Given the description of an element on the screen output the (x, y) to click on. 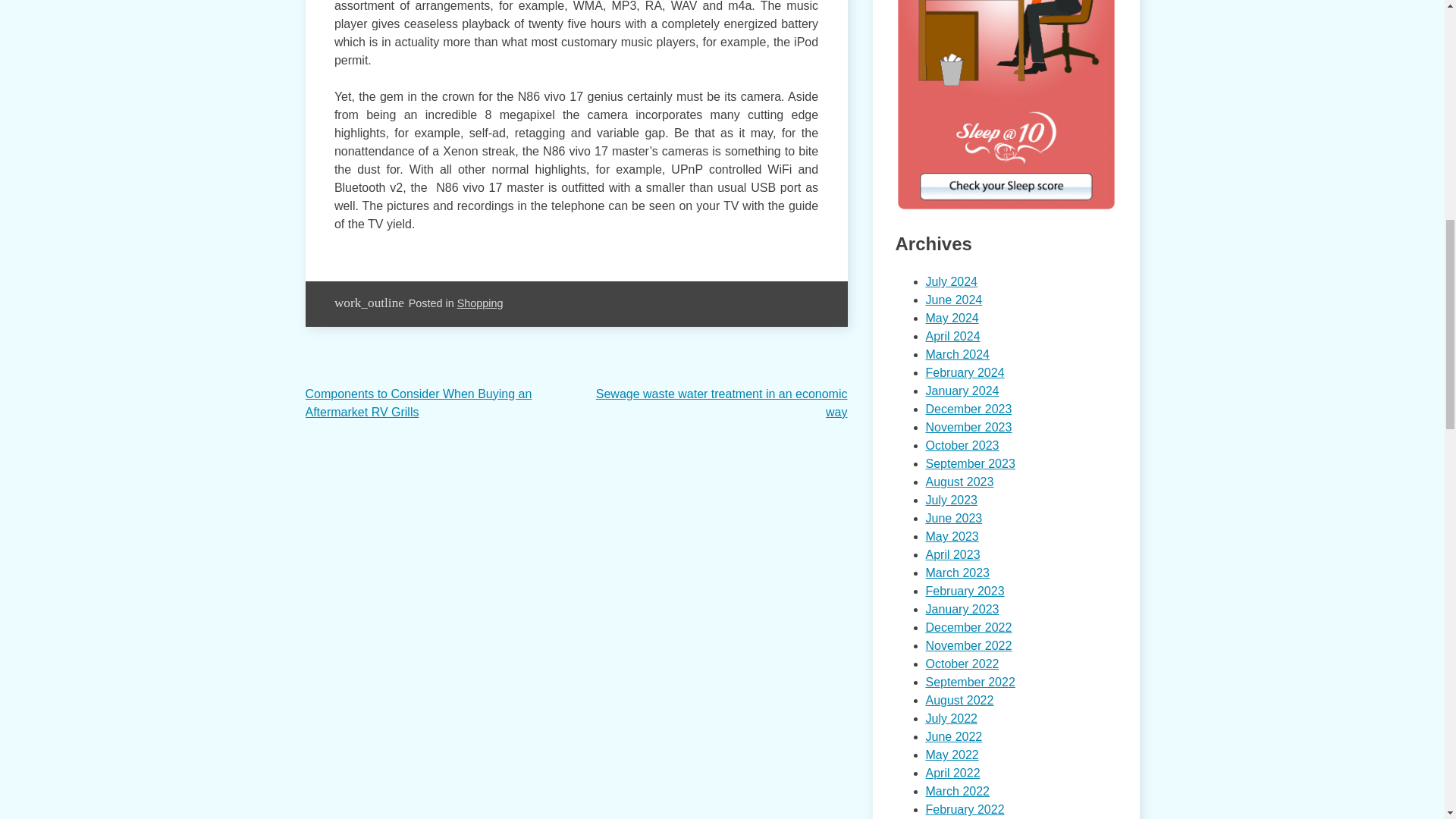
June 2023 (952, 517)
March 2024 (957, 354)
June 2024 (952, 299)
July 2023 (950, 499)
Components to Consider When Buying an Aftermarket RV Grills (417, 402)
November 2023 (967, 427)
February 2024 (964, 372)
April 2024 (951, 336)
May 2024 (951, 318)
April 2023 (951, 554)
March 2023 (957, 572)
January 2024 (961, 390)
December 2023 (967, 408)
July 2024 (950, 281)
October 2023 (961, 445)
